Given the description of an element on the screen output the (x, y) to click on. 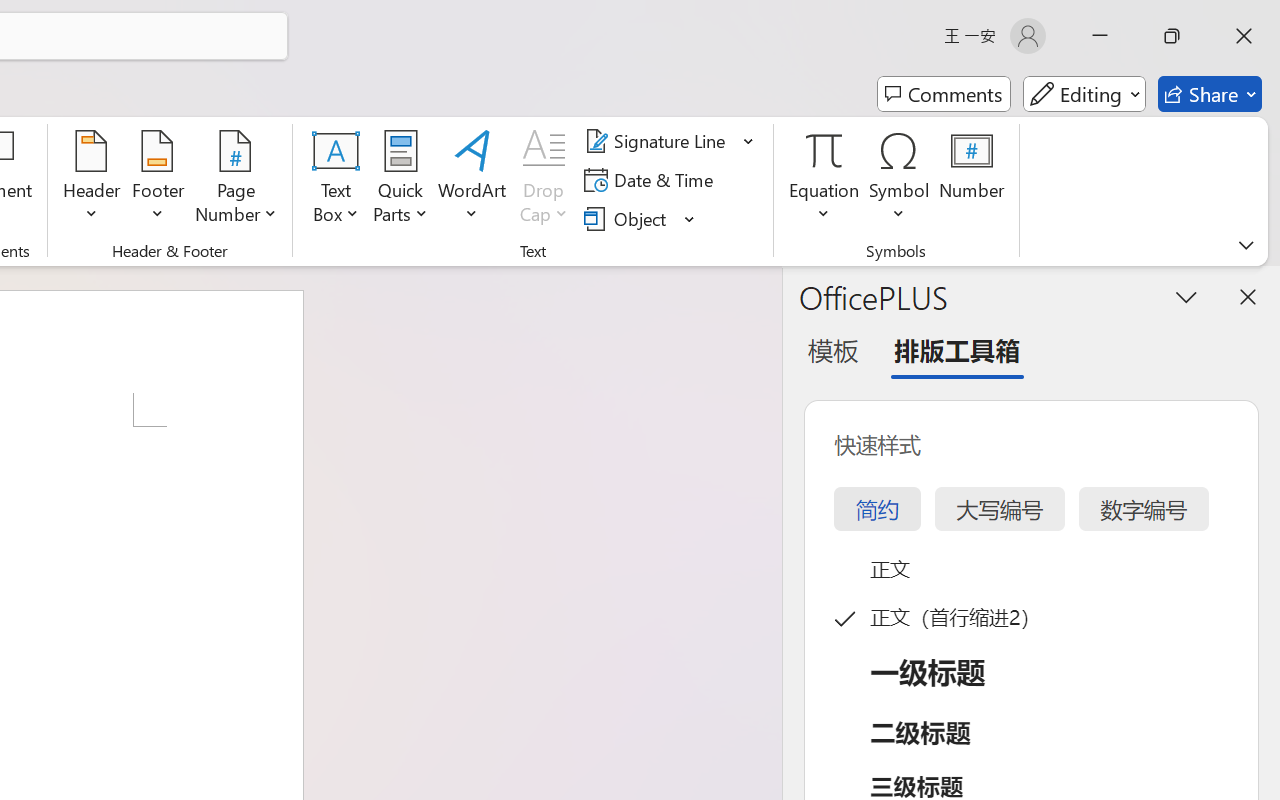
Signature Line (658, 141)
WordArt (472, 179)
Page Number (236, 179)
Text Box (335, 179)
Equation (823, 150)
Object... (628, 218)
Drop Cap (543, 179)
Symbol (899, 179)
